Given the description of an element on the screen output the (x, y) to click on. 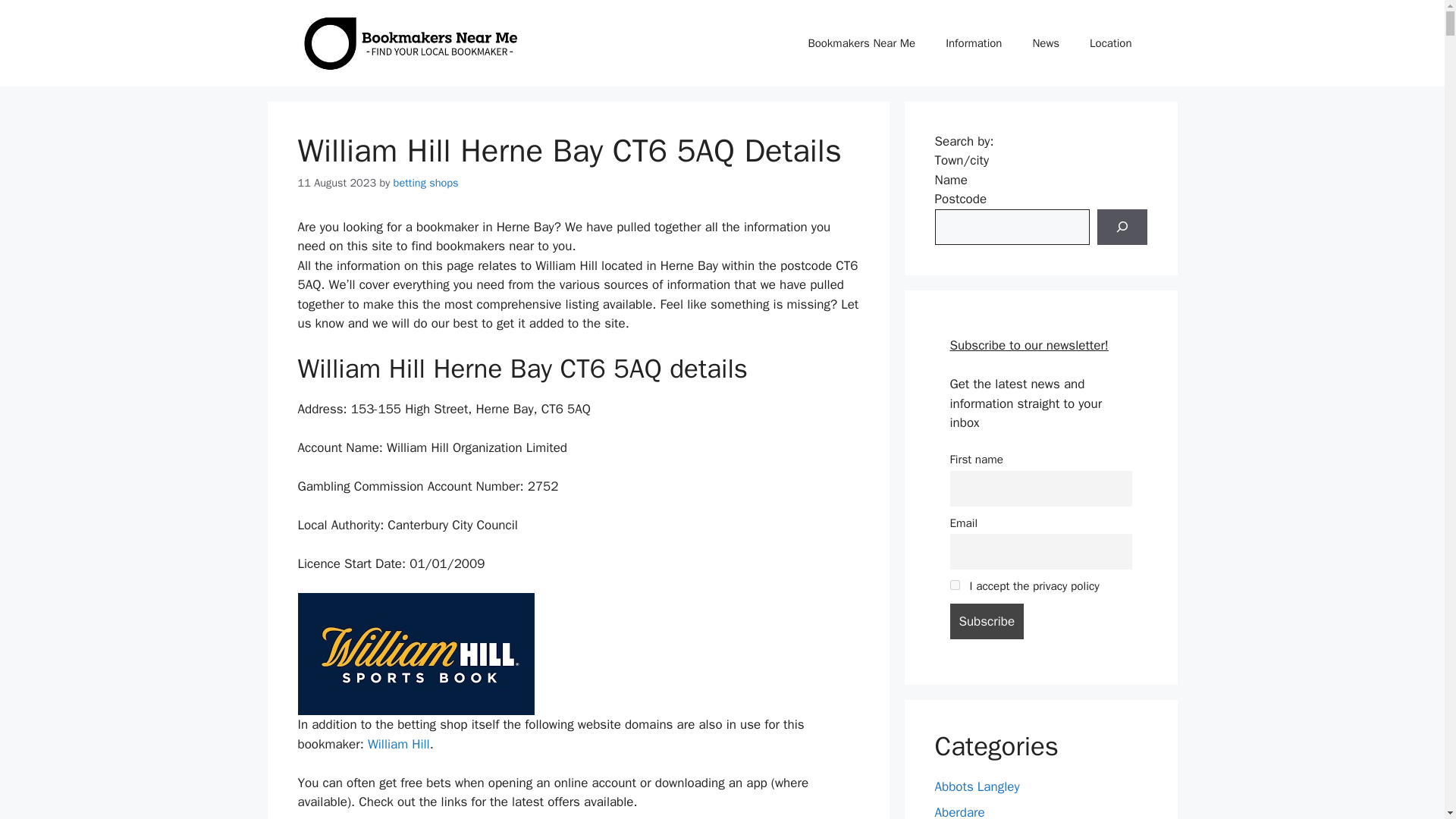
Location (1110, 43)
Aberdare (959, 811)
Abbots Langley (976, 786)
Information (973, 43)
Bookmakers Near Me (861, 43)
betting shops (425, 182)
on (954, 584)
William Hill (398, 744)
News (1045, 43)
Subscribe (986, 621)
View all posts by betting shops (425, 182)
Subscribe (986, 621)
